Given the description of an element on the screen output the (x, y) to click on. 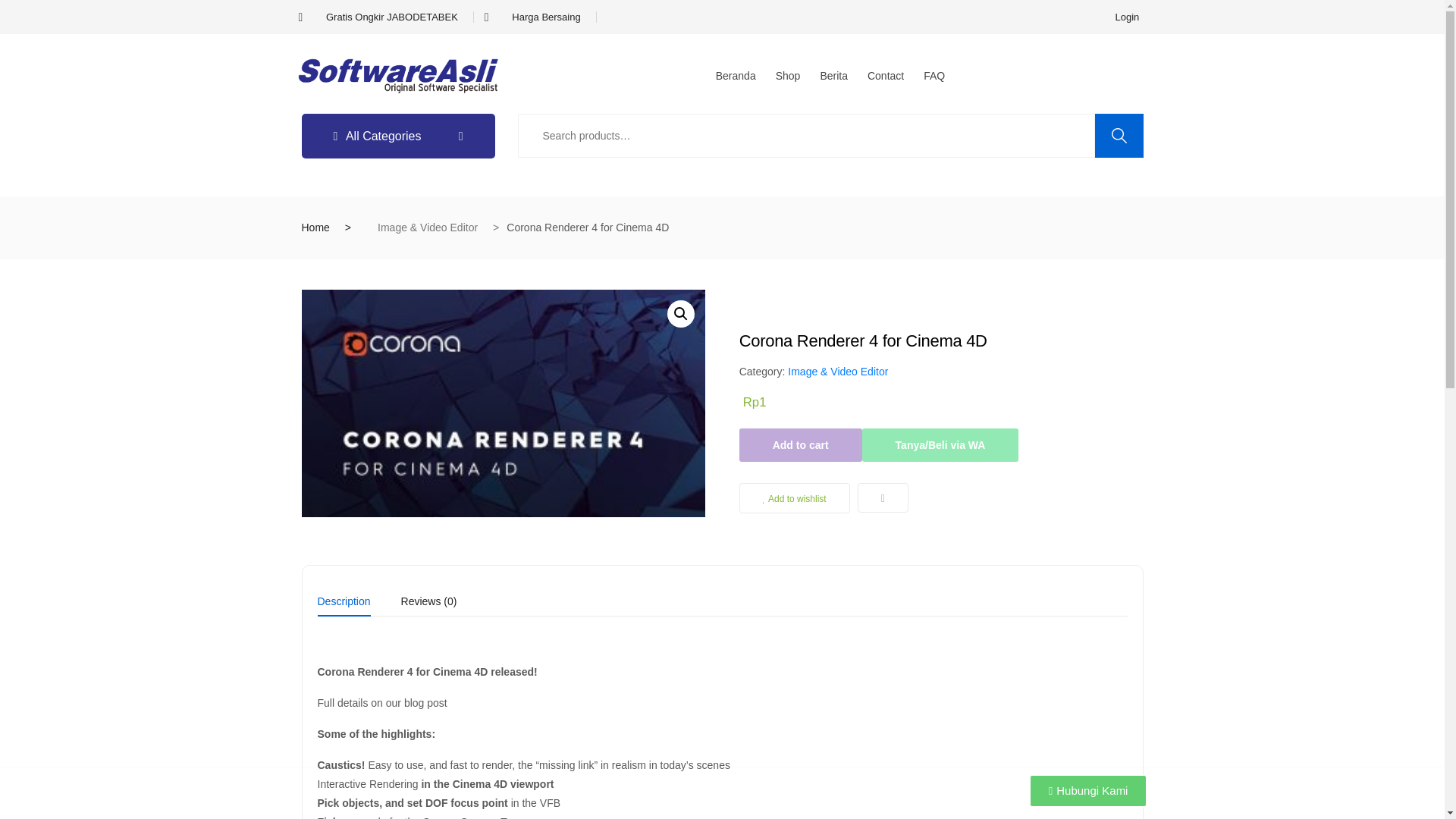
All Categories (398, 135)
Corona Renderer 4 for Cinema 4D (503, 402)
Beranda (735, 75)
Home (315, 227)
Contact (885, 75)
Shop (787, 75)
FAQ (934, 75)
Login (1126, 17)
Berita (833, 75)
